Given the description of an element on the screen output the (x, y) to click on. 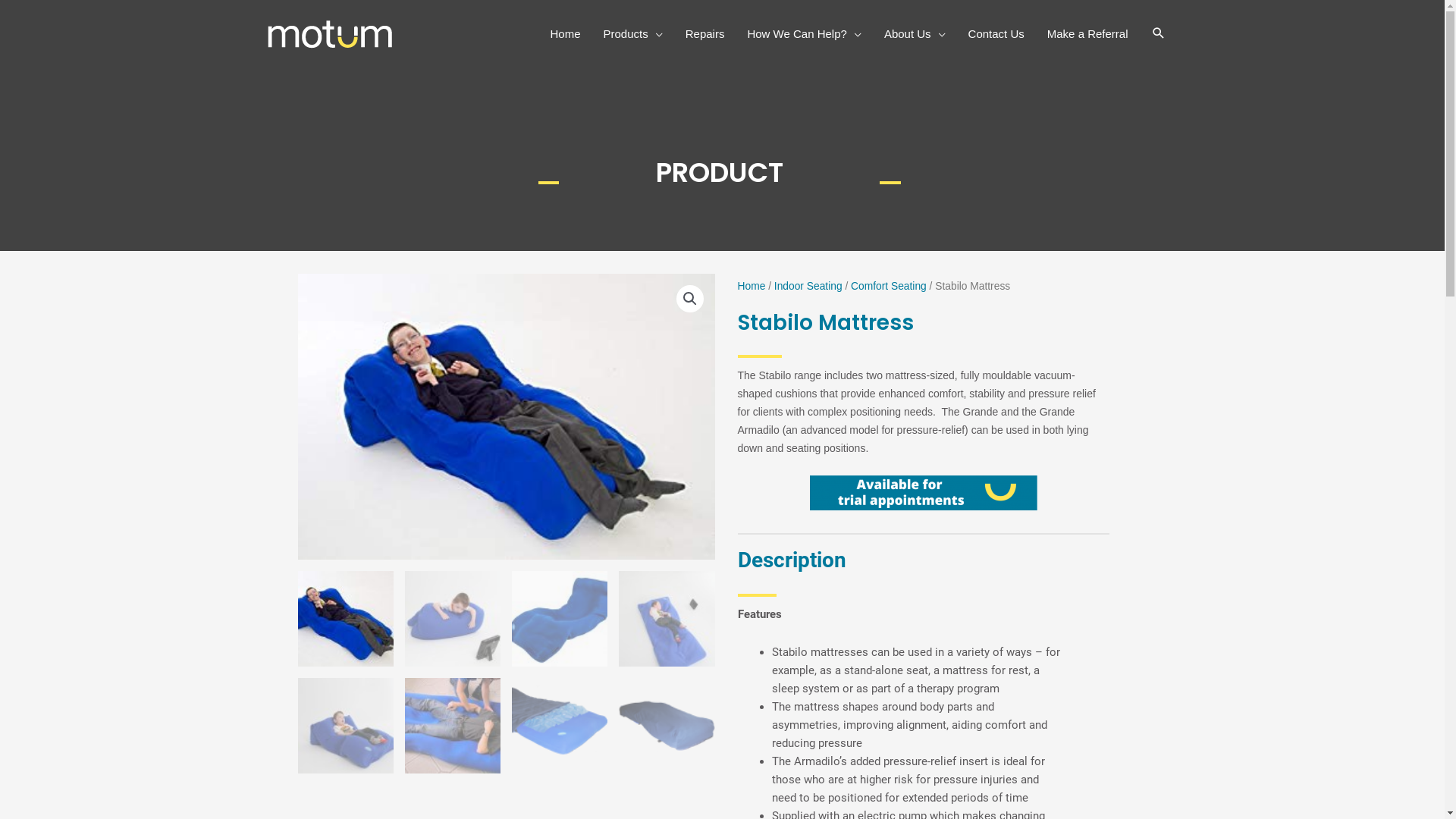
Make a Referral Element type: text (1087, 33)
Products Element type: text (633, 33)
Comfort Seating Element type: text (888, 285)
Repairs Element type: text (705, 33)
51ATNUSstSL._SX355_ Element type: hover (505, 415)
Indoor Seating Element type: text (808, 285)
About Us Element type: text (914, 33)
Home Element type: text (751, 285)
How We Can Help? Element type: text (803, 33)
Contact Us Element type: text (996, 33)
Home Element type: text (565, 33)
